Given the description of an element on the screen output the (x, y) to click on. 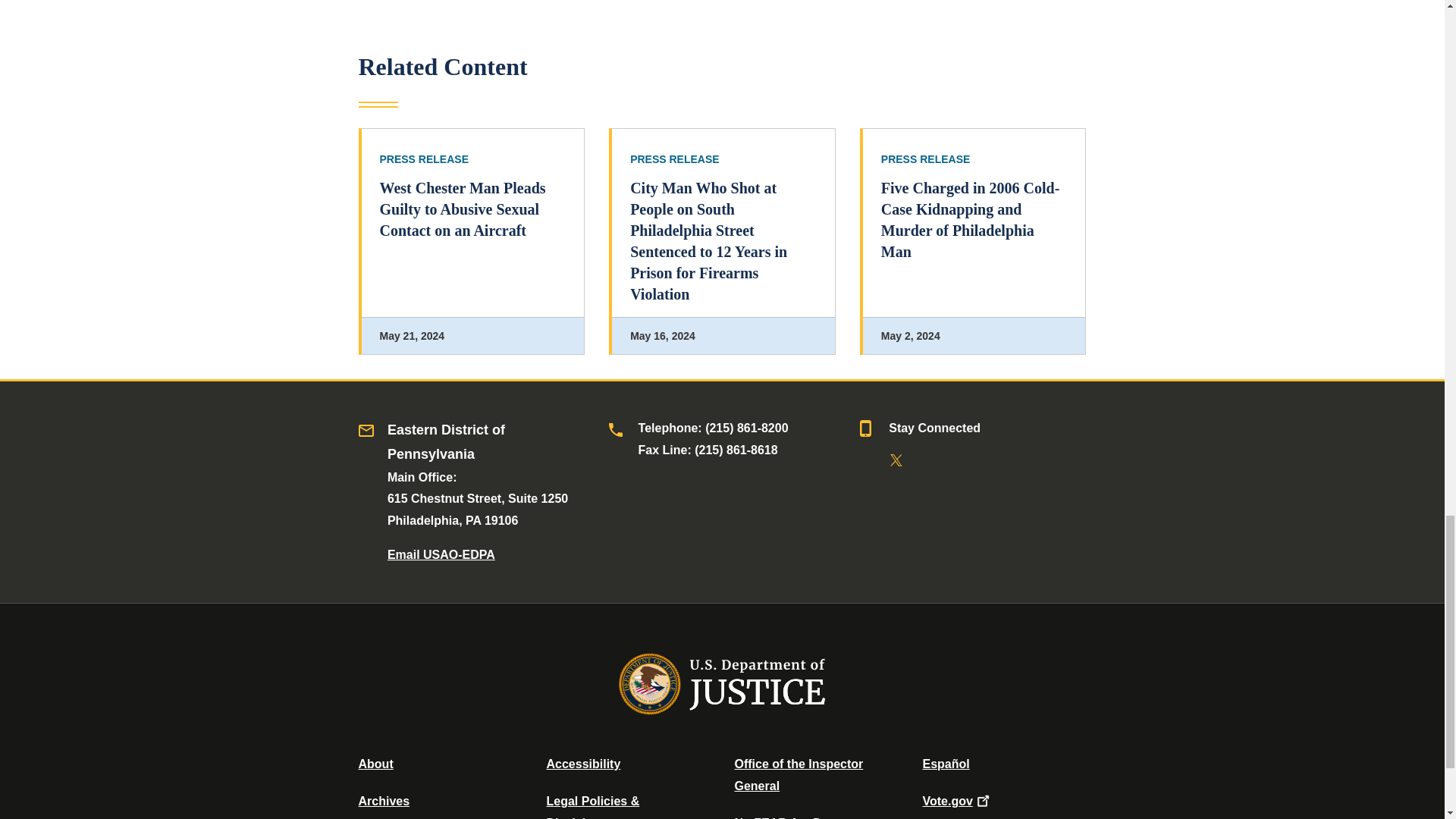
Data Posted Pursuant To The No Fear Act (785, 817)
About DOJ (375, 763)
Accessibility Statement (583, 763)
Legal Policies and Disclaimers (592, 806)
Department of Justice Archive (383, 800)
